Given the description of an element on the screen output the (x, y) to click on. 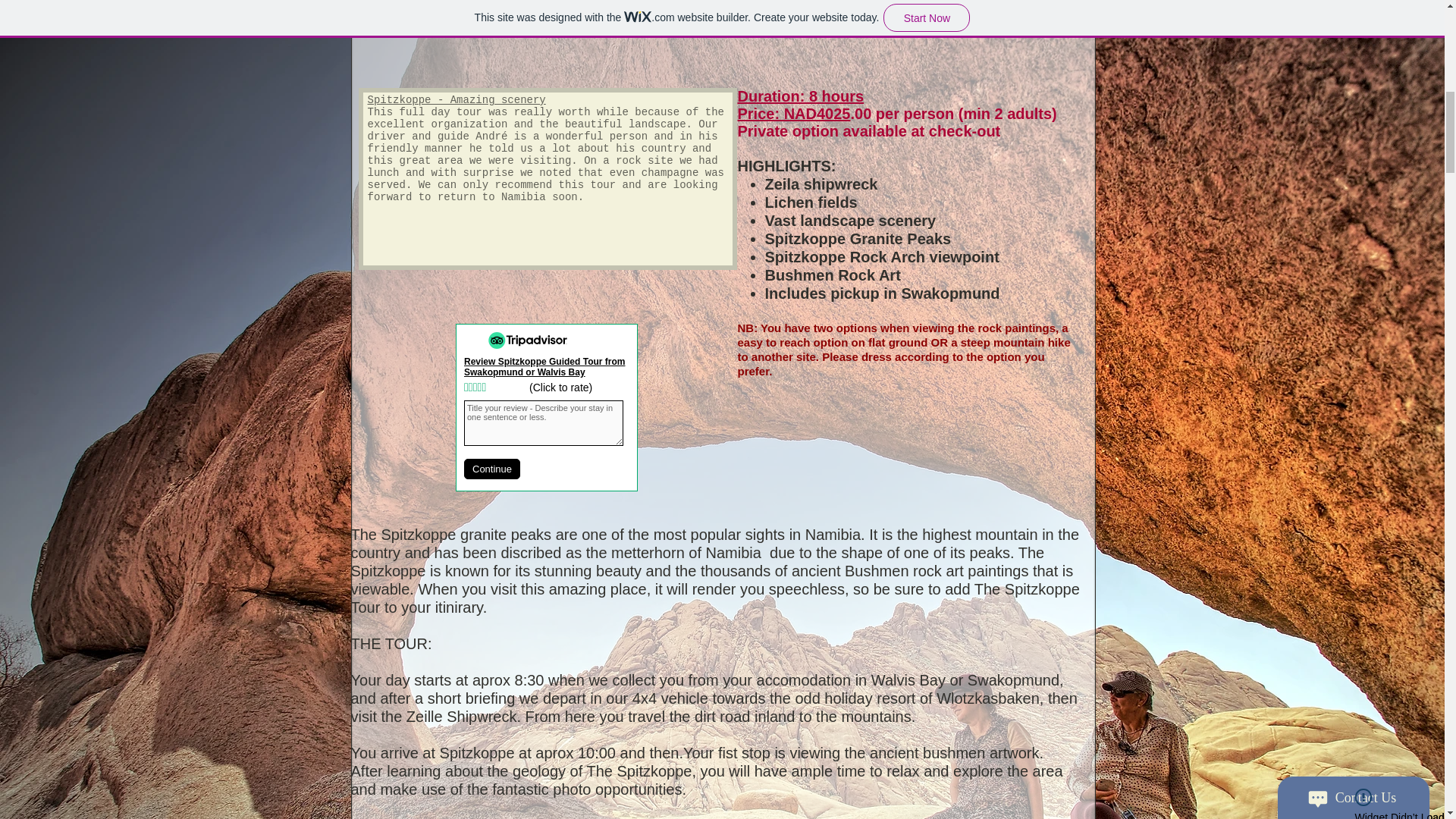
Spitzkoppe Guided Tour (862, 21)
Embedded Content (545, 425)
Spitzkoppe - Amazing scenery (455, 100)
ENQUIRE NOW (577, 18)
